Given the description of an element on the screen output the (x, y) to click on. 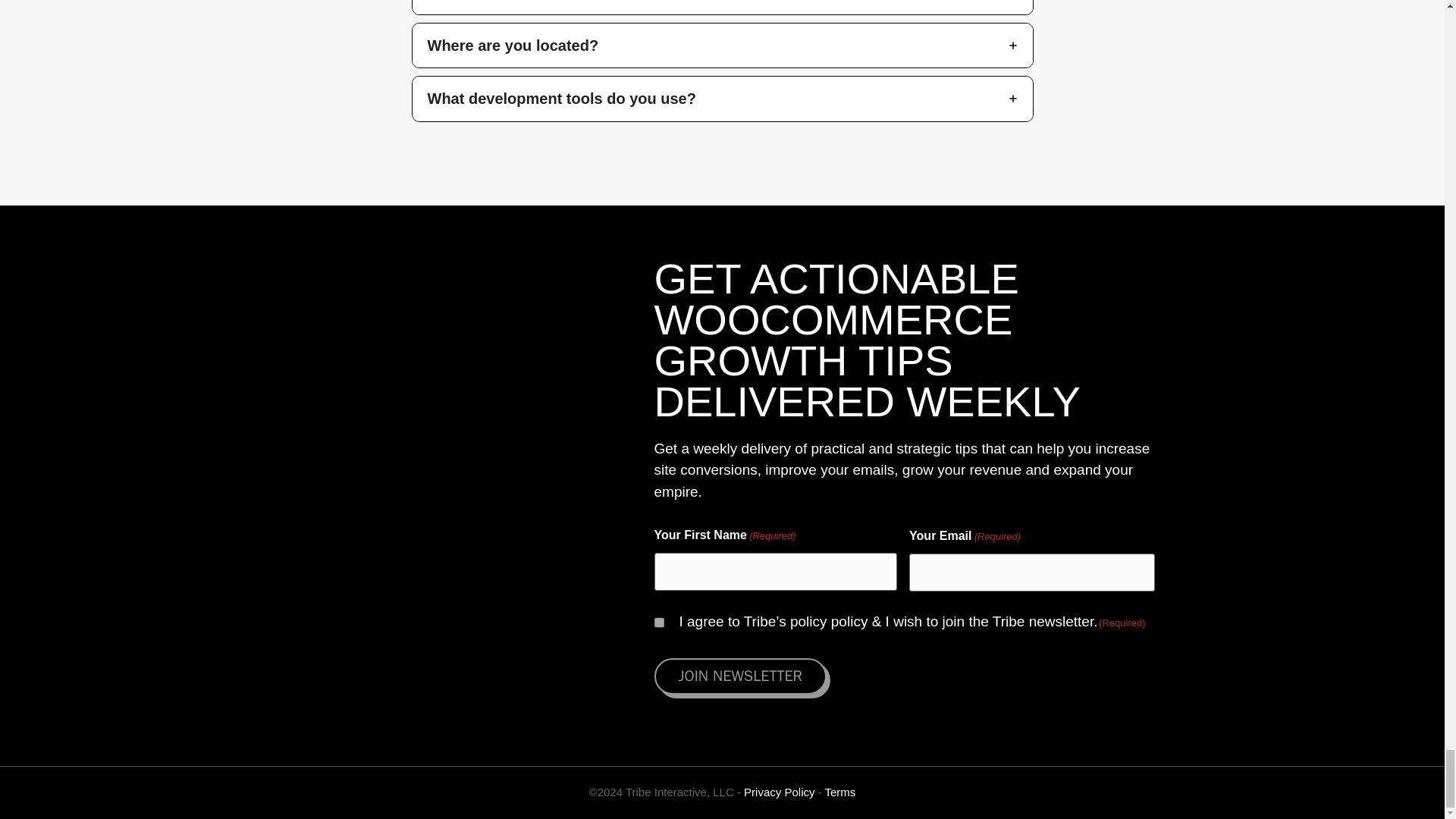
Privacy Policy (778, 791)
Join Newsletter (739, 676)
Terms (840, 791)
Join Newsletter (739, 676)
